Given the description of an element on the screen output the (x, y) to click on. 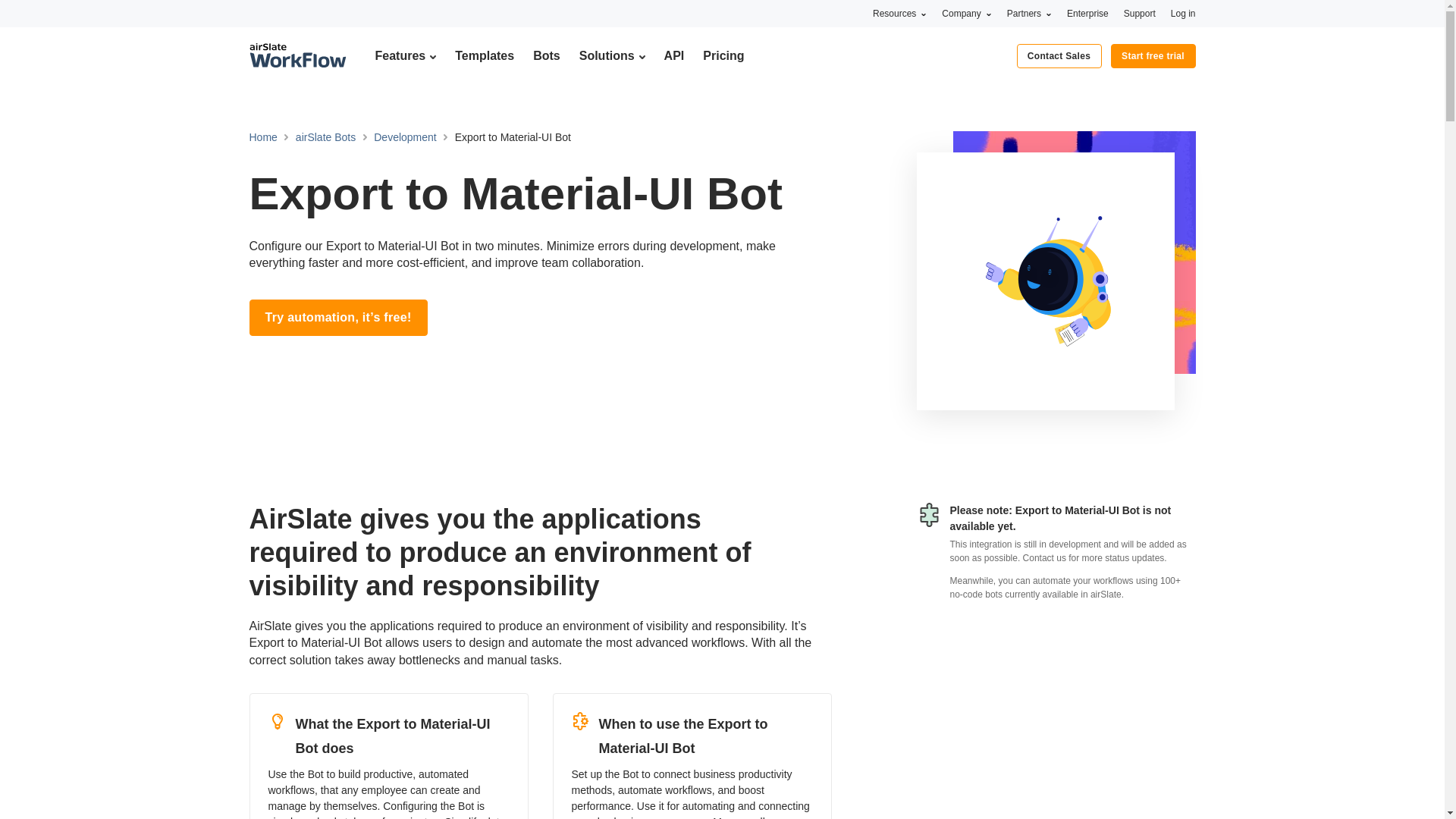
Support (1140, 13)
Company (966, 13)
Enterprise (1087, 13)
Templates (483, 55)
Log in (1182, 13)
Resources (899, 13)
Partners (1029, 13)
